Given the description of an element on the screen output the (x, y) to click on. 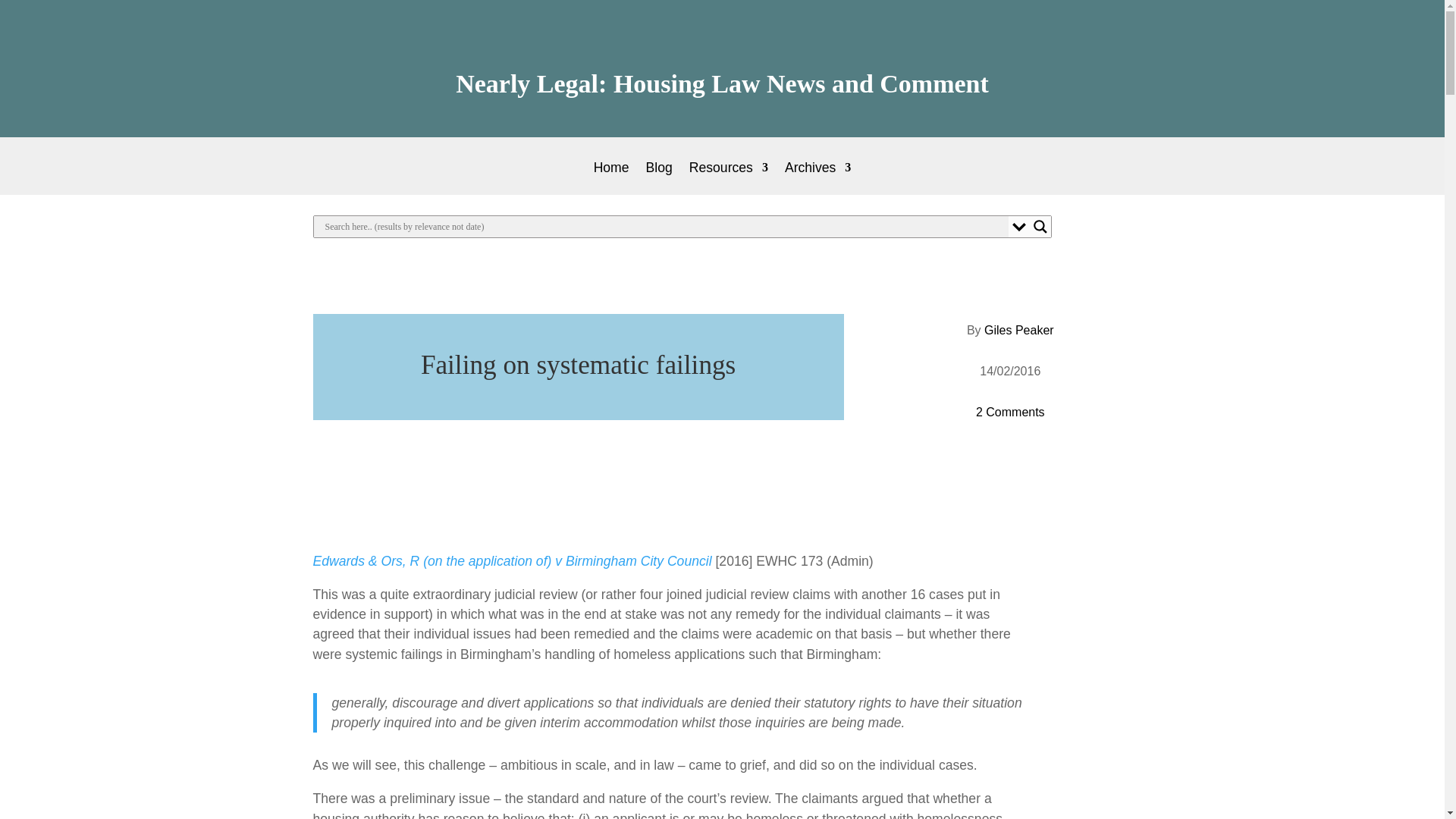
Archives (817, 178)
Resources (728, 178)
Home (611, 178)
